Given the description of an element on the screen output the (x, y) to click on. 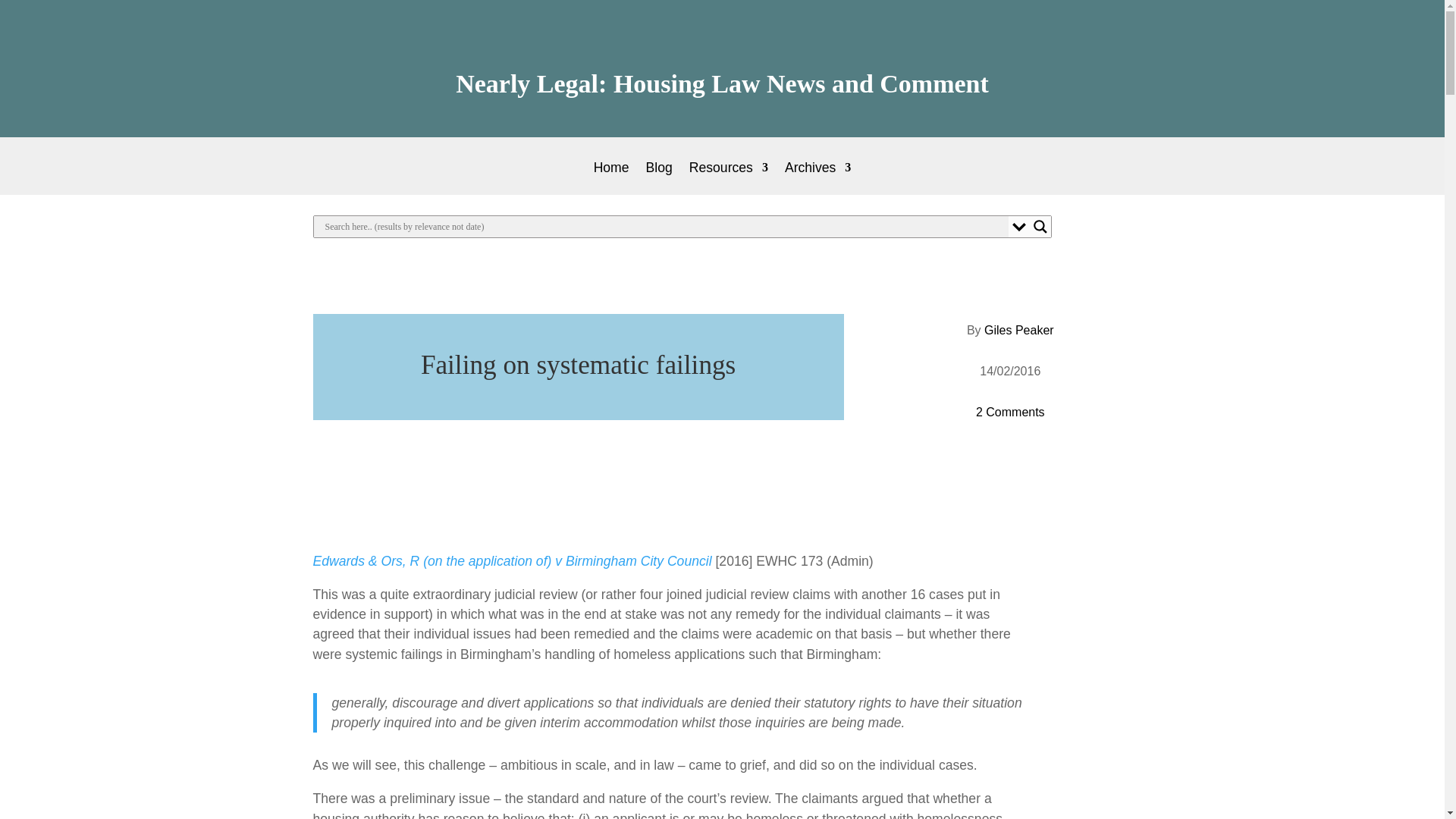
Archives (817, 178)
Resources (728, 178)
Home (611, 178)
